Given the description of an element on the screen output the (x, y) to click on. 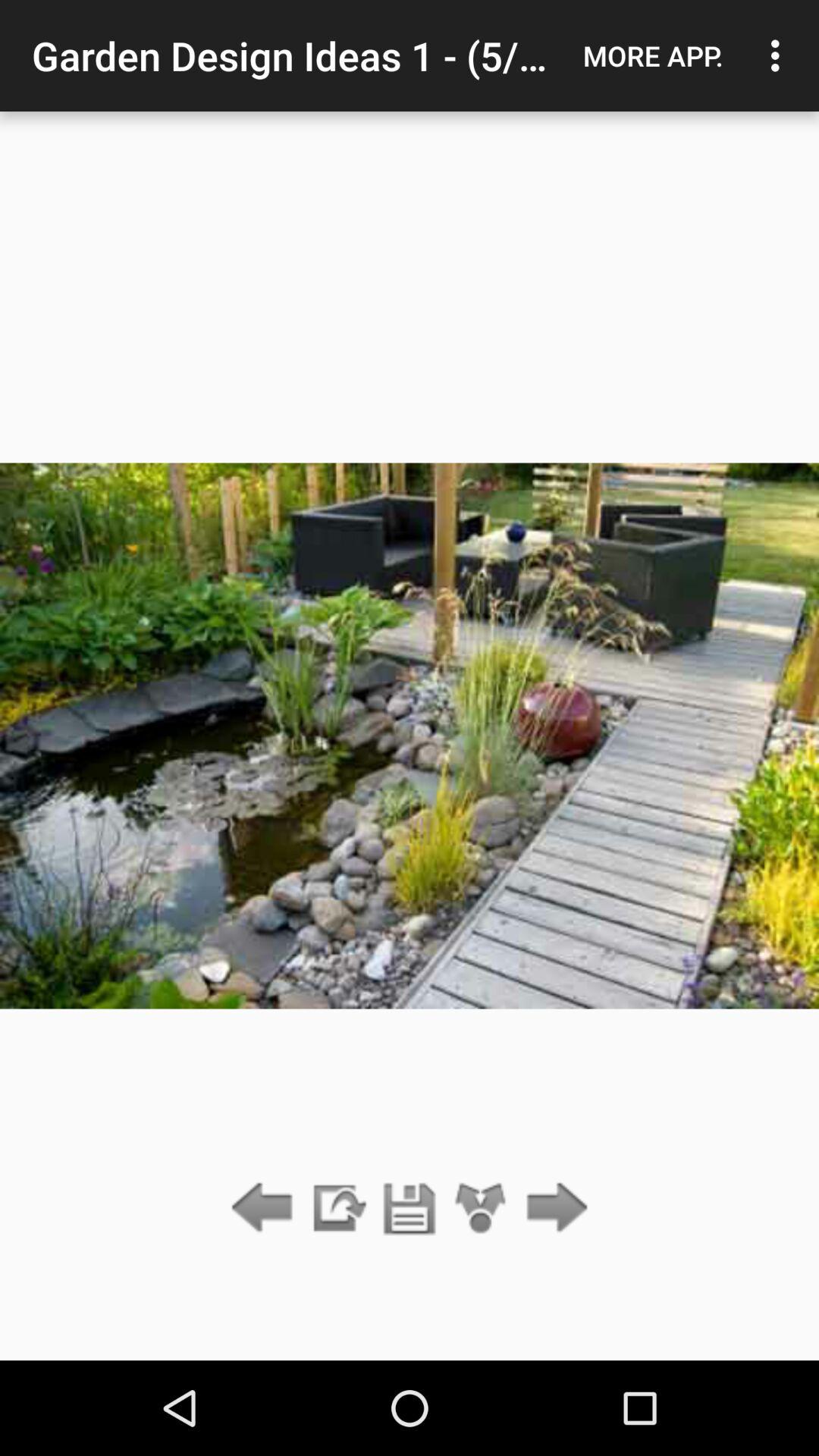
export (337, 1208)
